Given the description of an element on the screen output the (x, y) to click on. 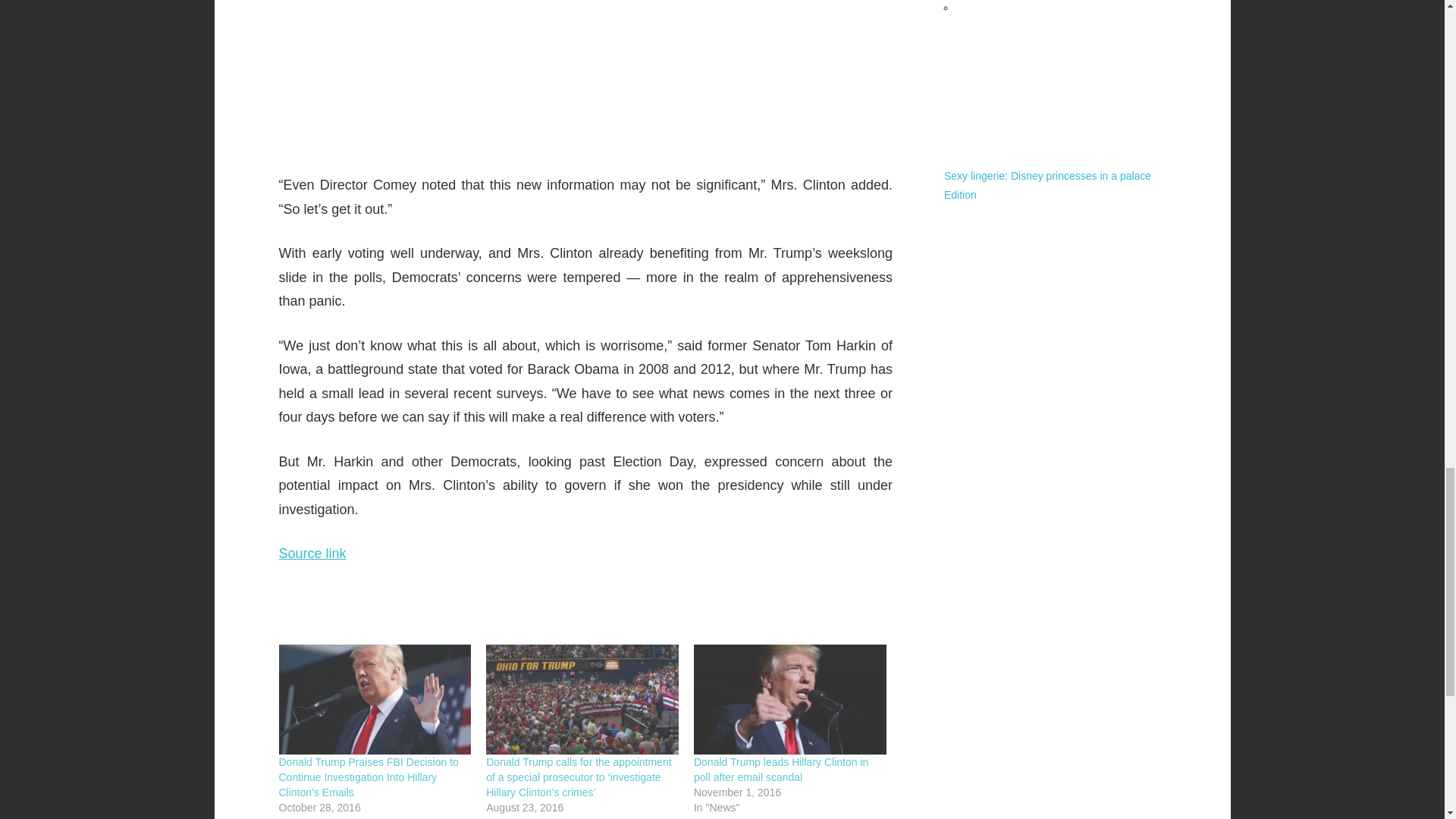
Sexy lingerie: Disney princesses in a palace Edition (1047, 184)
Source link (312, 553)
